Given the description of an element on the screen output the (x, y) to click on. 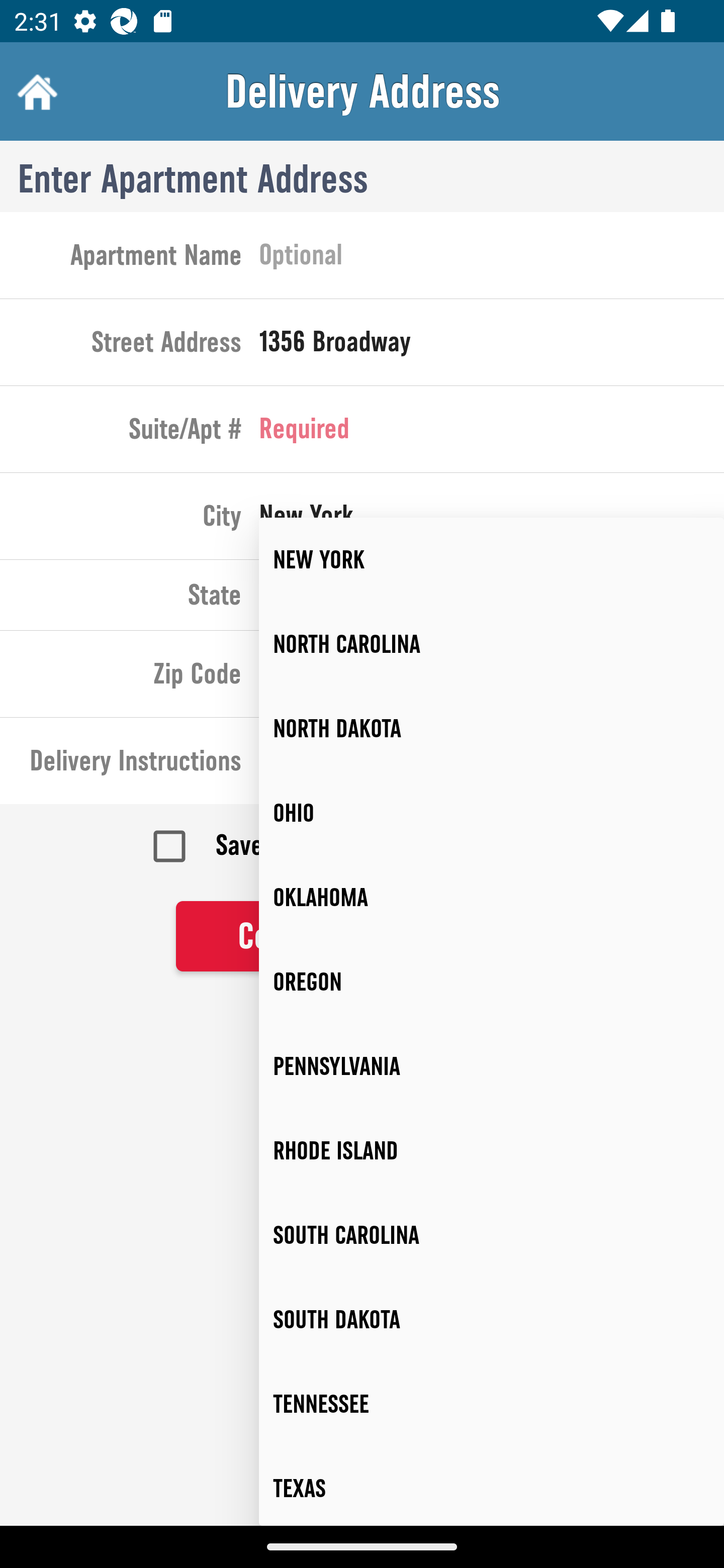
NEW YORK (491, 559)
NORTH CAROLINA (491, 644)
NORTH DAKOTA (491, 728)
OHIO (491, 813)
OKLAHOMA (491, 897)
OREGON (491, 981)
PENNSYLVANIA (491, 1065)
RHODE ISLAND (491, 1150)
SOUTH CAROLINA (491, 1235)
SOUTH DAKOTA (491, 1319)
TENNESSEE (491, 1403)
TEXAS (491, 1485)
